Given the description of an element on the screen output the (x, y) to click on. 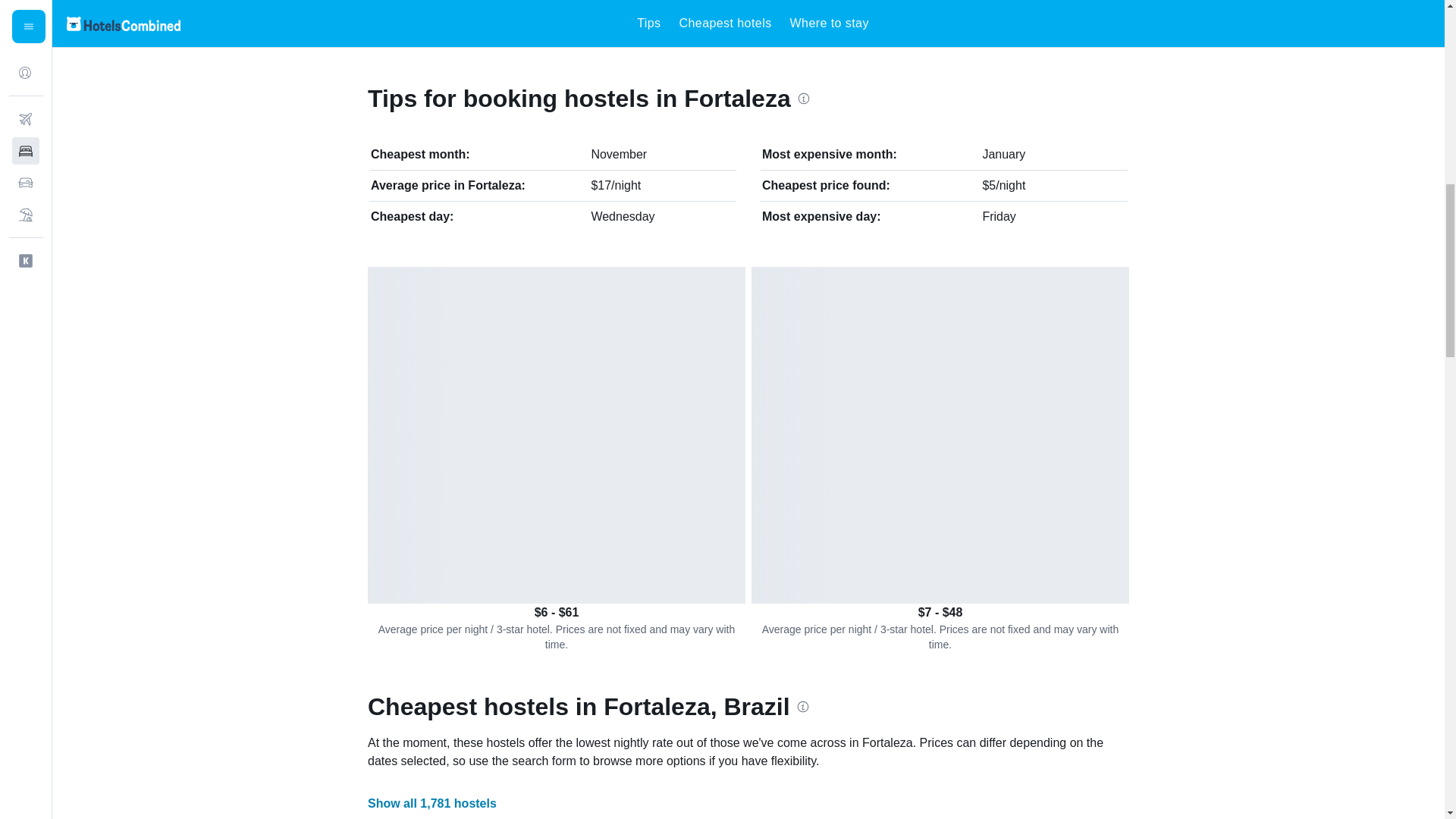
Friday (997, 215)
Show all 1,781 hostels (432, 802)
November (618, 154)
Fortaleza Hotels (638, 22)
January (1003, 154)
Home (373, 22)
Wednesday (622, 215)
Brazil Hotels (429, 22)
